Given the description of an element on the screen output the (x, y) to click on. 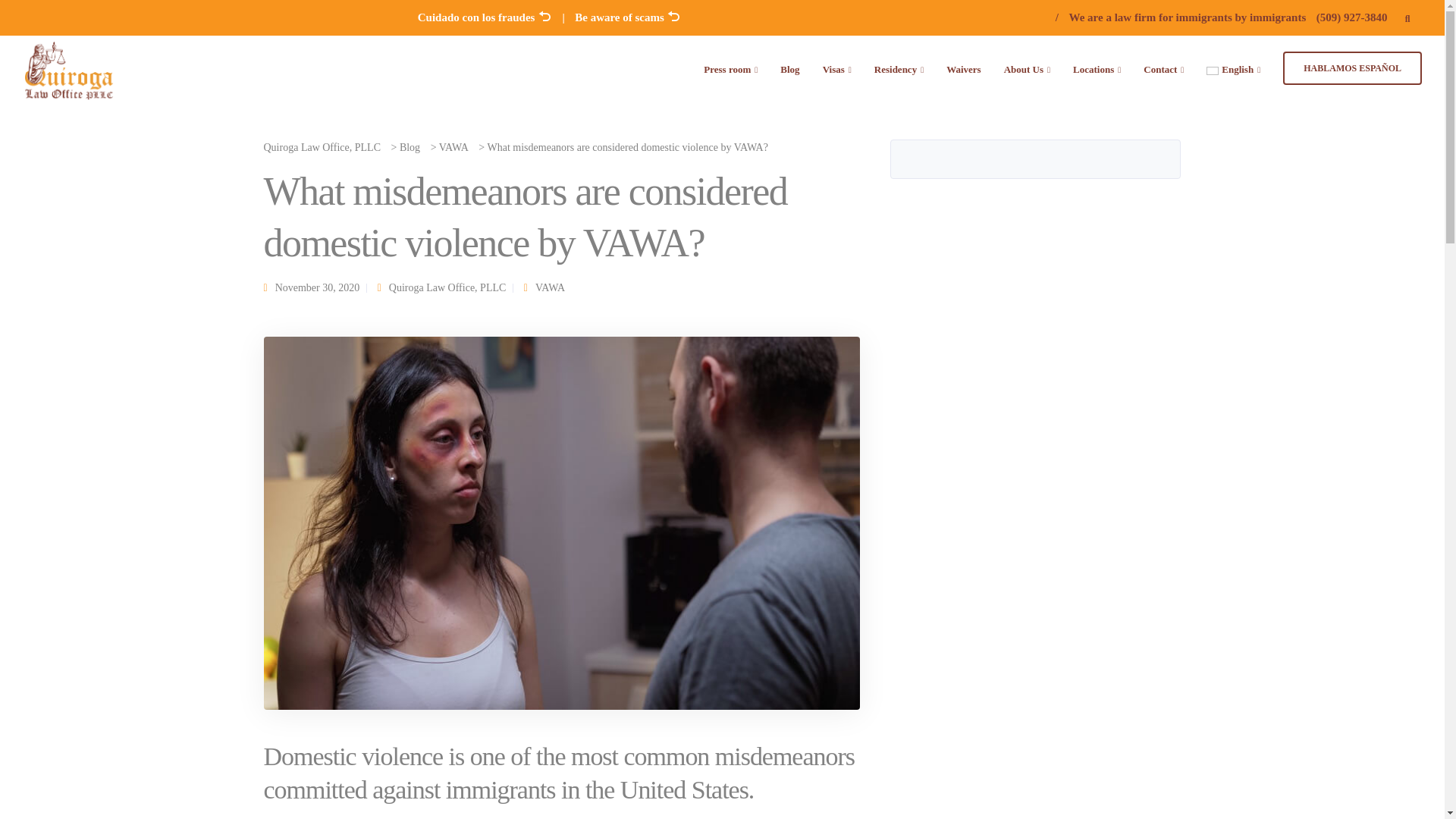
We are a law firm for immigrants by immigrants (1187, 17)
Residency (898, 68)
About Us (1026, 68)
Cuidado con los fraudes (484, 17)
Locations (1096, 68)
Waivers (963, 68)
Press room (730, 68)
Visas (836, 68)
Press room (730, 68)
About Us (1026, 68)
